Given the description of an element on the screen output the (x, y) to click on. 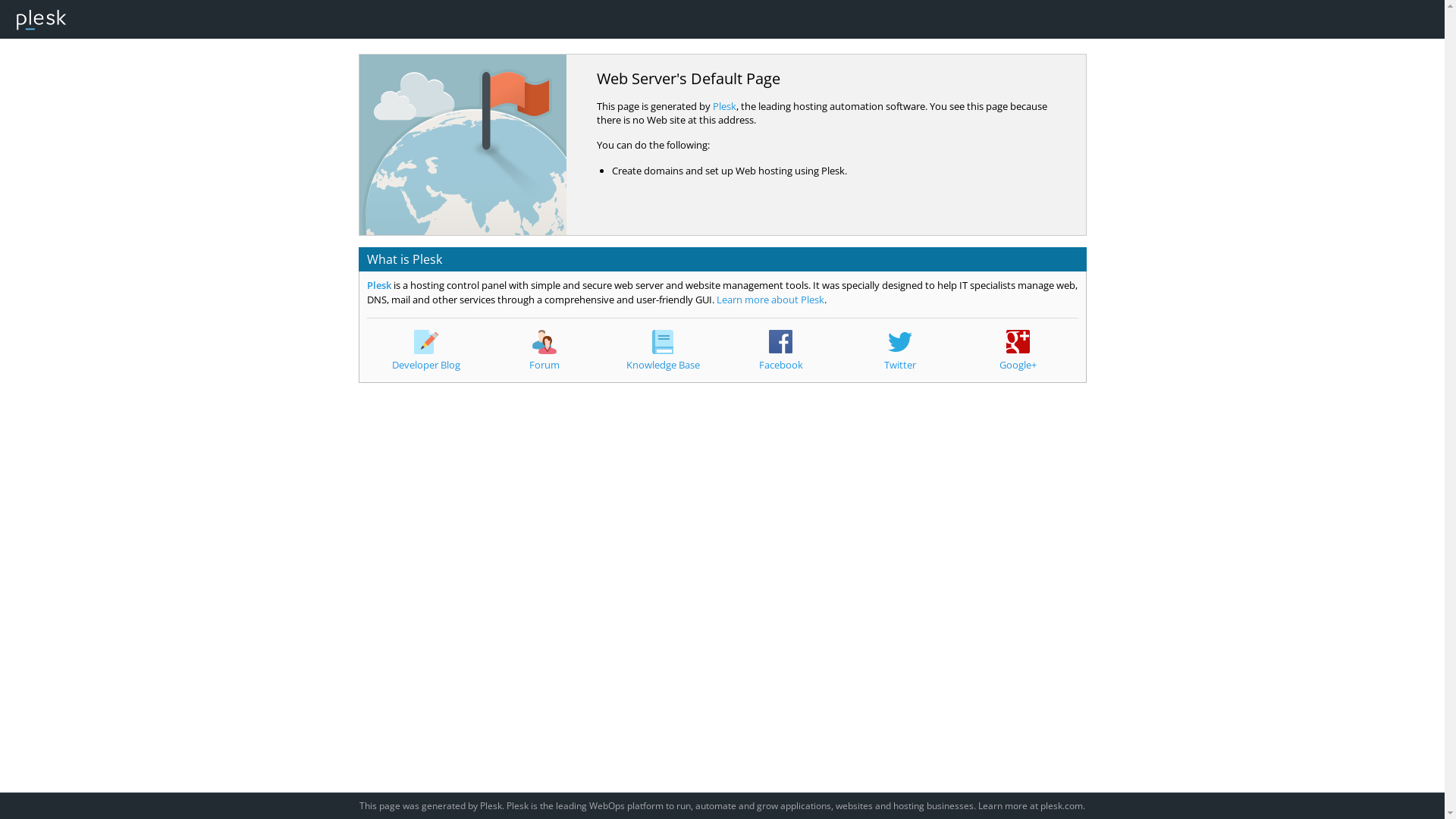
Twitter Element type: text (900, 350)
plesk.com Element type: text (1061, 805)
Developer Blog Element type: text (426, 350)
Learn more about Plesk Element type: text (769, 299)
Plesk Element type: text (379, 284)
Google+ Element type: text (1017, 350)
Plesk Element type: text (724, 105)
Knowledge Base Element type: text (662, 350)
Forum Element type: text (544, 350)
Facebook Element type: text (781, 350)
